Given the description of an element on the screen output the (x, y) to click on. 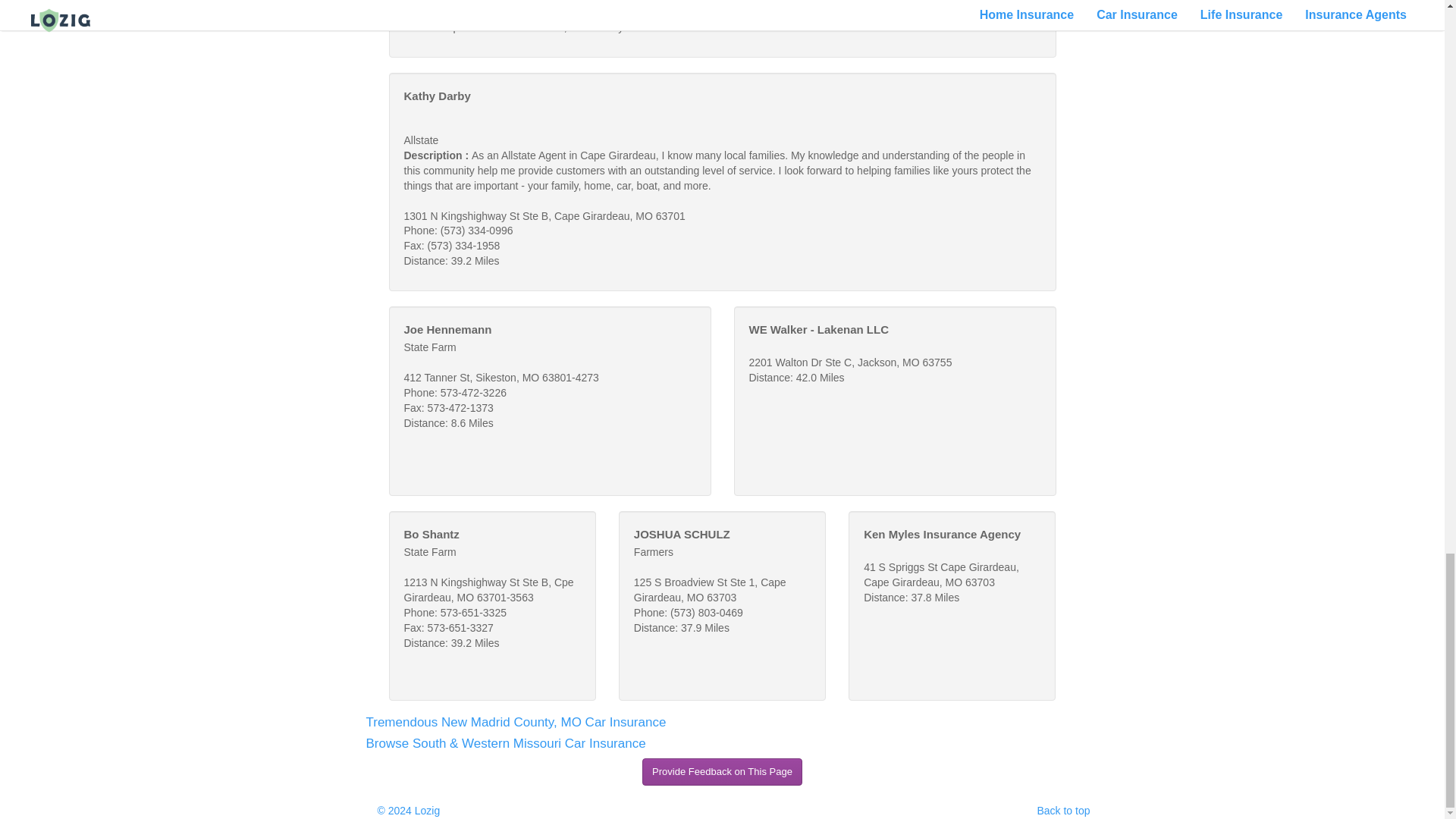
Back to top (1062, 810)
Provide Feedback on This Page (722, 772)
Tremendous New Madrid County, MO Car Insurance (515, 721)
